Given the description of an element on the screen output the (x, y) to click on. 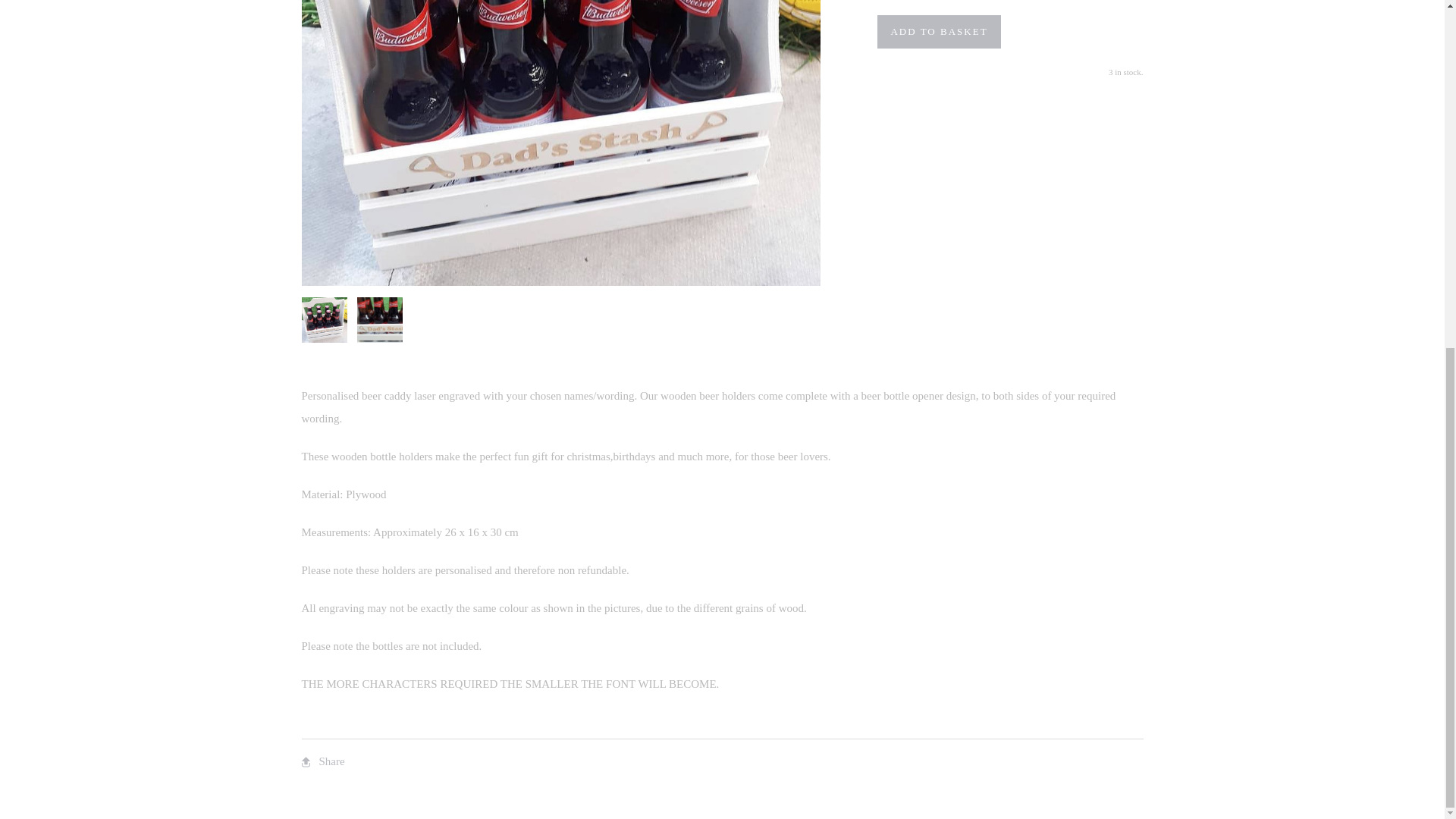
Share (323, 761)
ADD TO BASKET (938, 31)
